Given the description of an element on the screen output the (x, y) to click on. 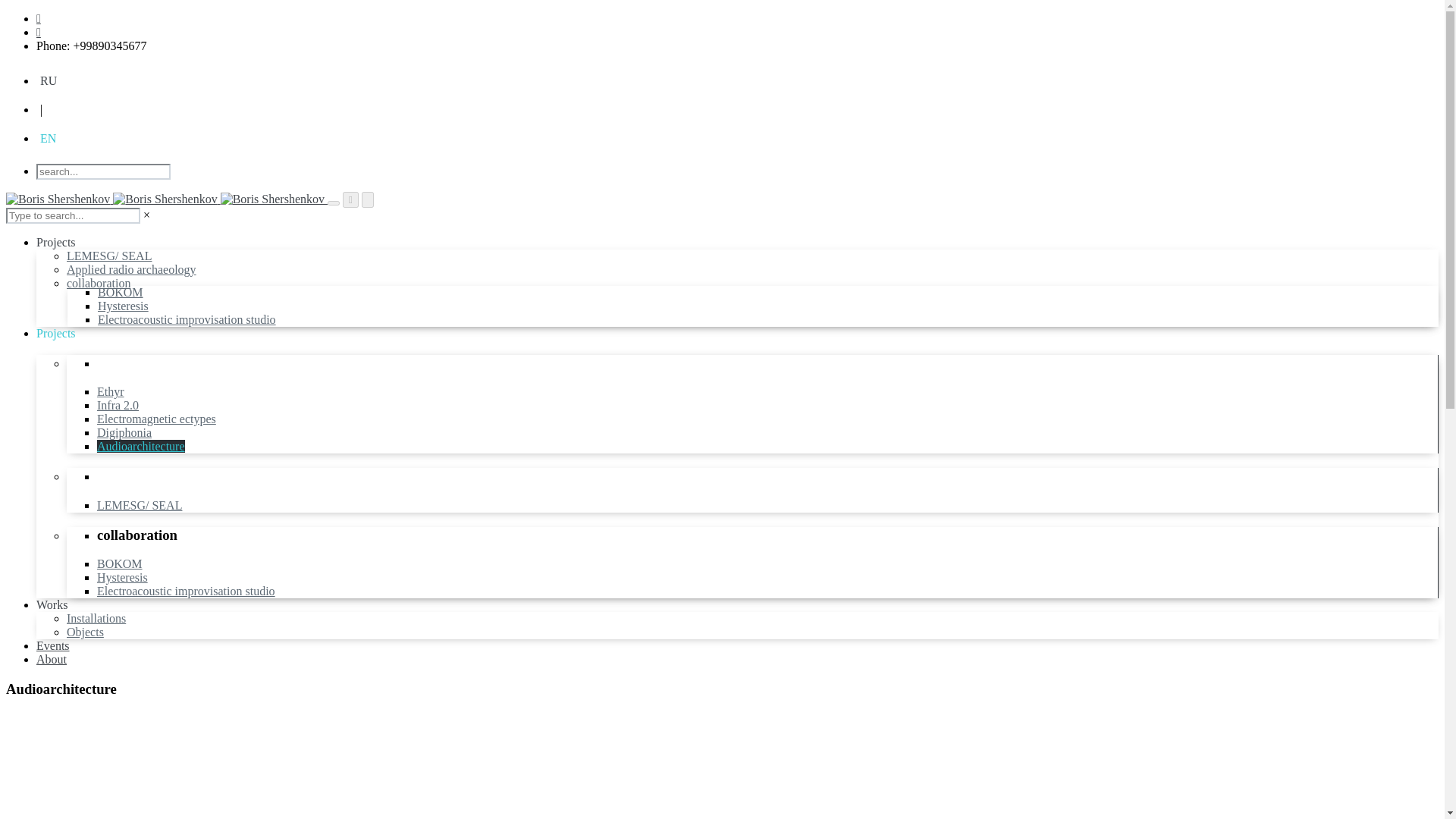
Electroacoustic improvisation studio (186, 318)
Hysteresis (122, 305)
collaboration (98, 282)
EN (48, 137)
Projects (55, 332)
Infra 2.0 (117, 404)
Applied radio archaeology (131, 269)
Hysteresis (122, 576)
Events (52, 645)
Electroacoustic improvisation studio (186, 590)
